Given the description of an element on the screen output the (x, y) to click on. 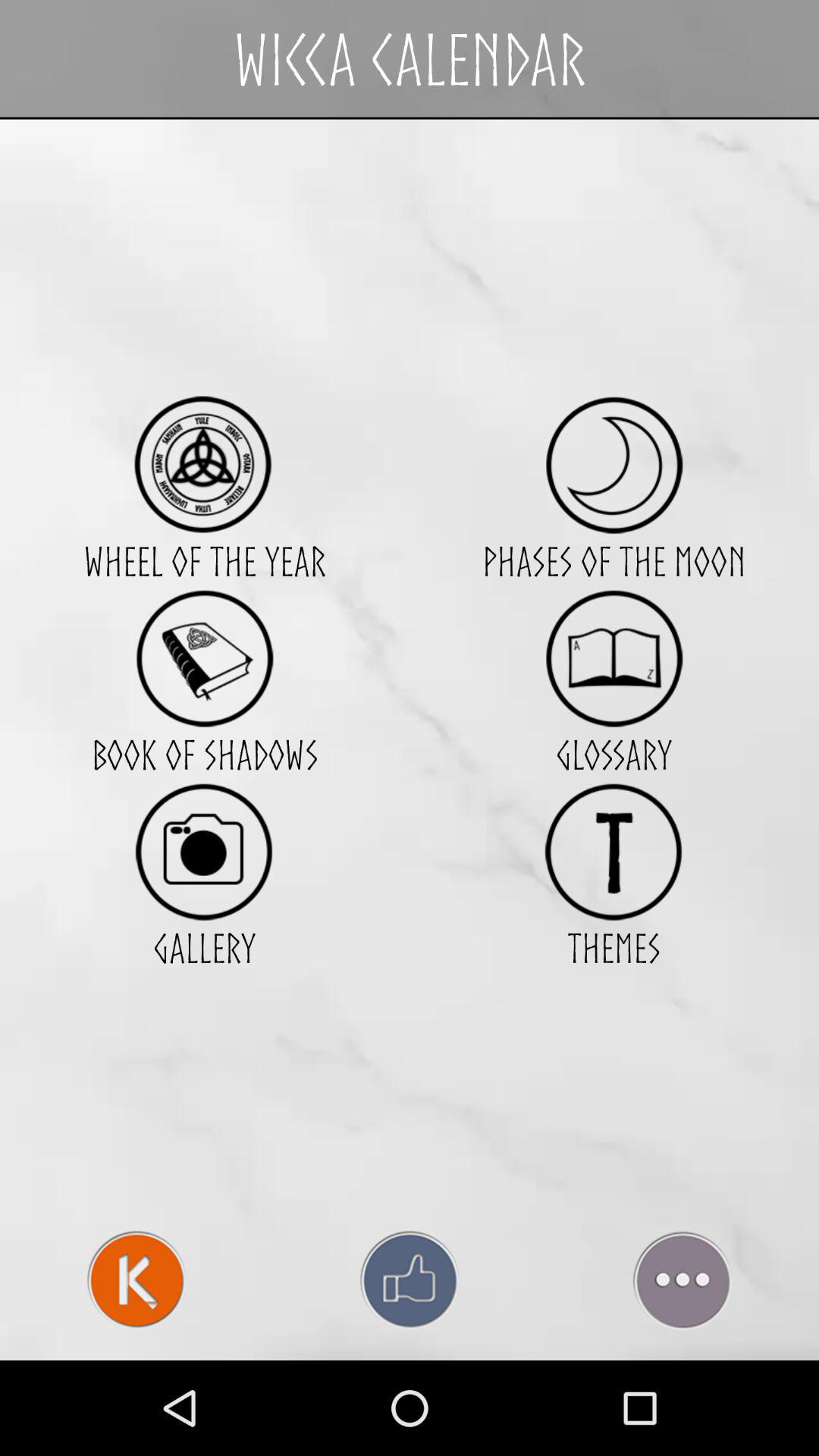
see more options (682, 1280)
